Given the description of an element on the screen output the (x, y) to click on. 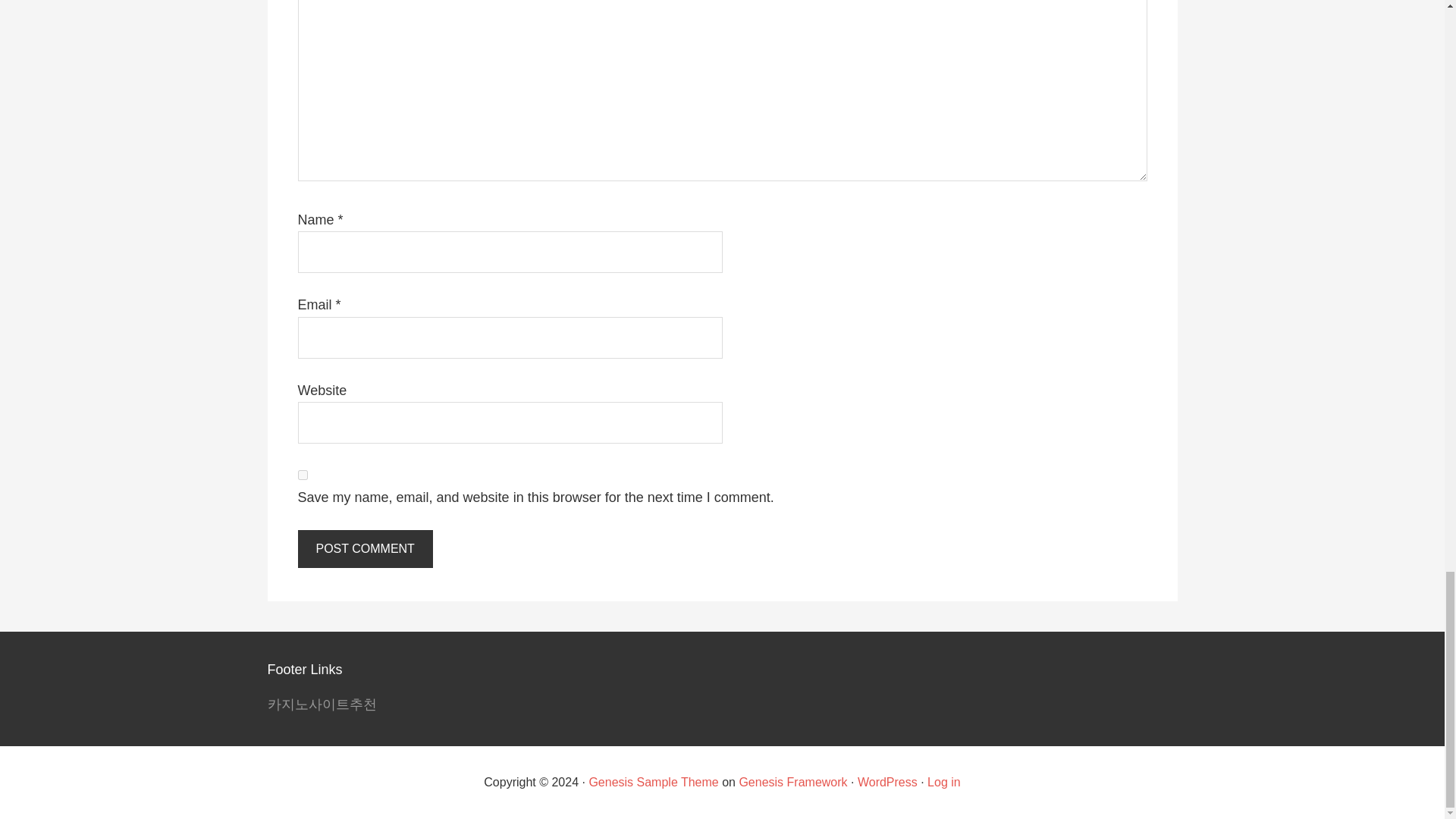
Genesis Sample Theme (652, 781)
yes (302, 474)
Post Comment (364, 548)
Genesis Framework (792, 781)
Log in (943, 781)
Post Comment (364, 548)
WordPress (887, 781)
